Given the description of an element on the screen output the (x, y) to click on. 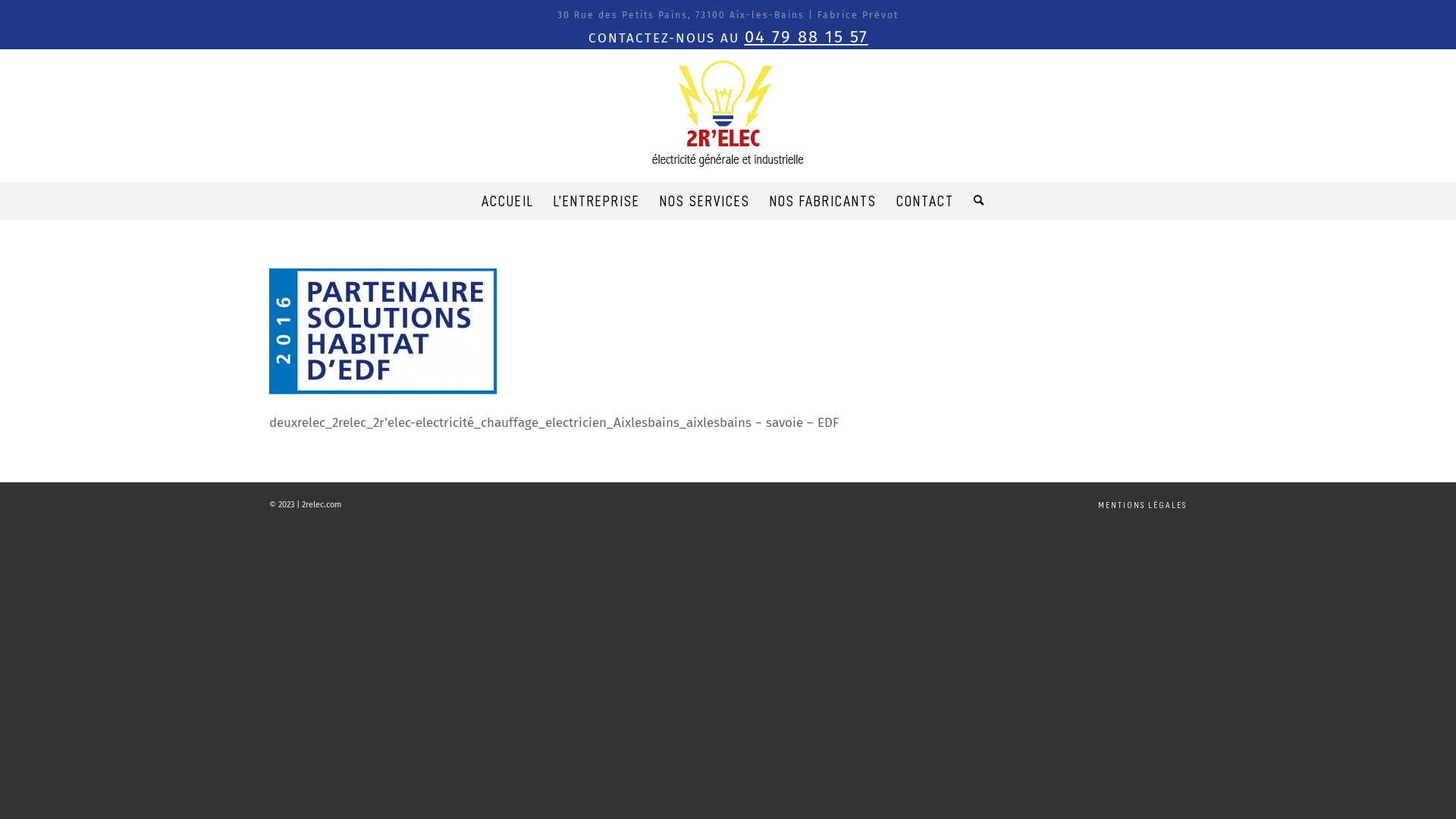
NOS SERVICES Element type: text (704, 200)
NOS FABRICANTS Element type: text (822, 200)
CONTACT Element type: text (924, 200)
ACCUEIL Element type: text (507, 200)
logo_2relec_ Element type: hover (727, 113)
04 79 88 15 57 Element type: text (806, 36)
